Given the description of an element on the screen output the (x, y) to click on. 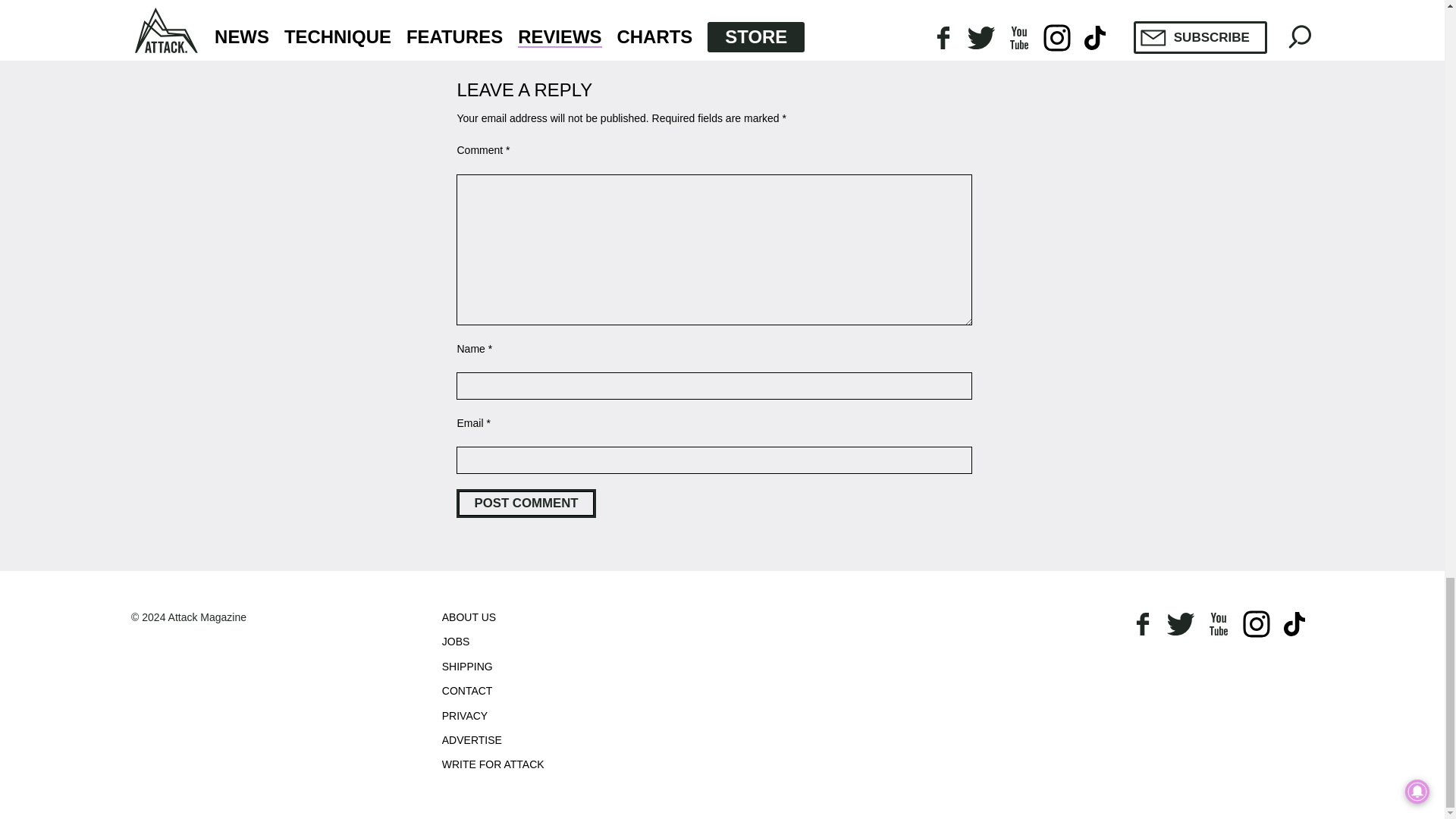
Post Comment (526, 502)
